Given the description of an element on the screen output the (x, y) to click on. 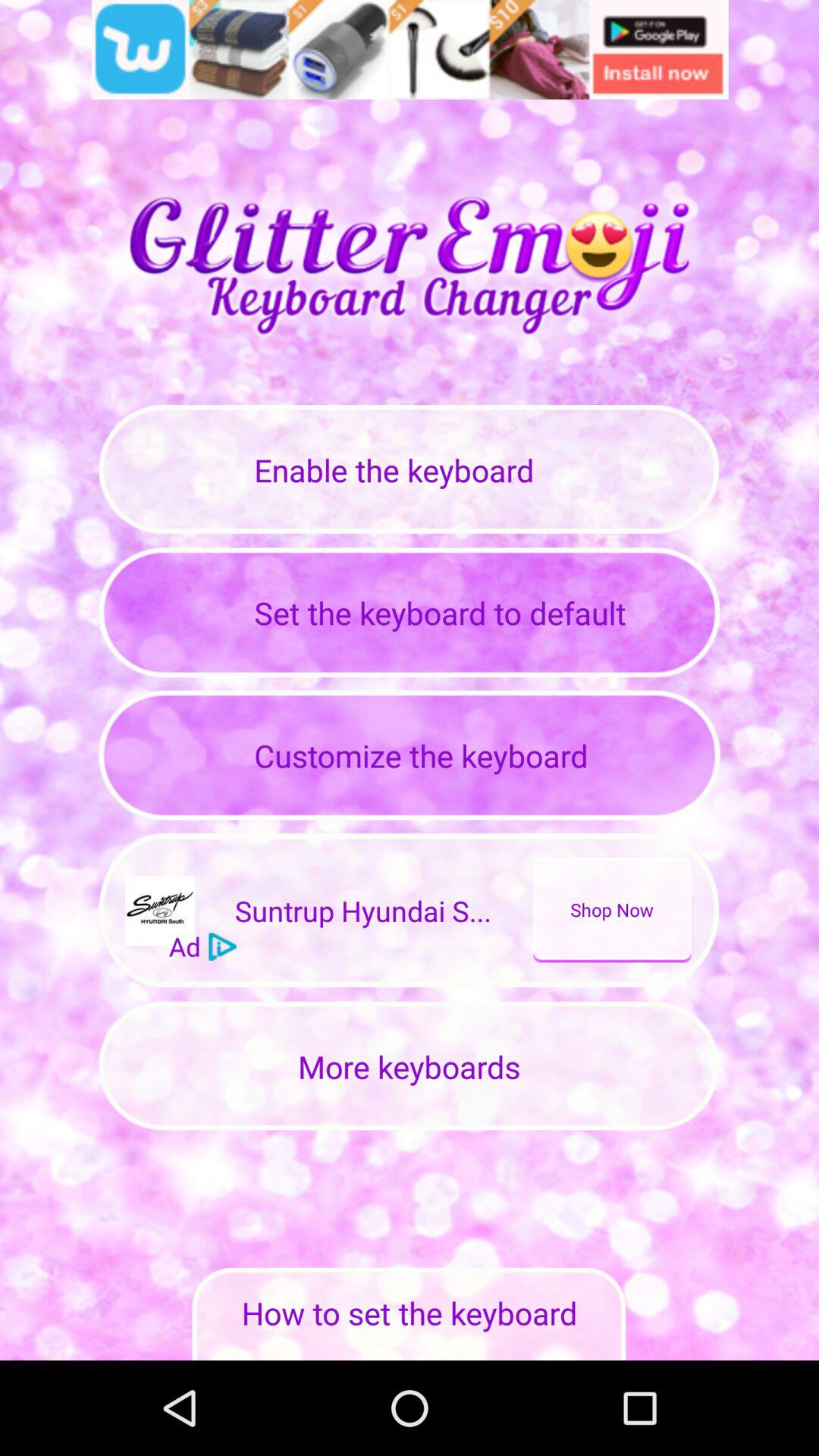
share the article (409, 49)
